Given the description of an element on the screen output the (x, y) to click on. 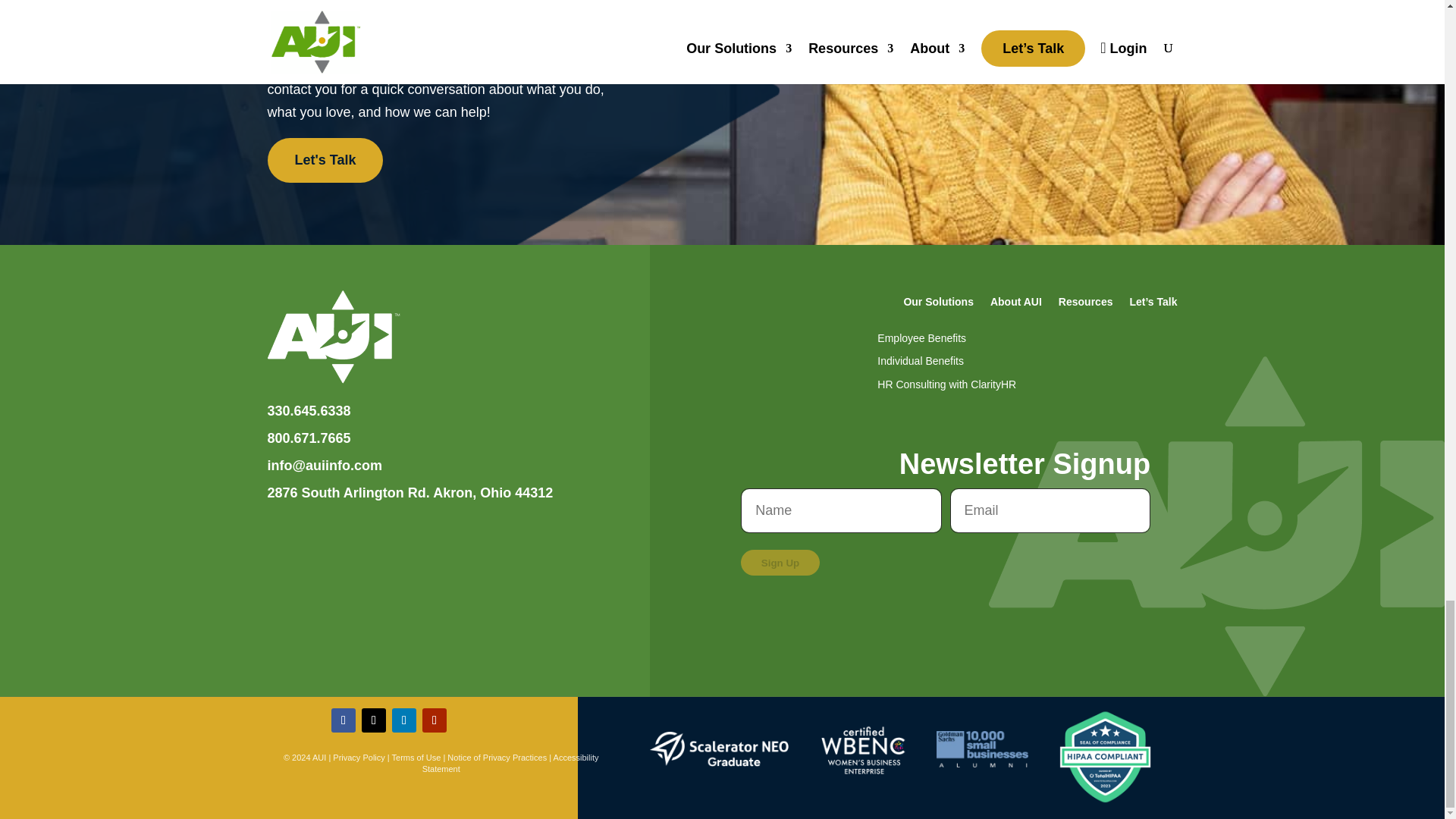
Group 8 (719, 749)
Group 7 (864, 748)
Follow on Youtube (434, 720)
Goldman 1 (981, 749)
Sign Up (780, 562)
Follow on X (373, 720)
Group 6 (332, 337)
Follow on LinkedIn (403, 720)
Follow on Facebook (343, 720)
